Given the description of an element on the screen output the (x, y) to click on. 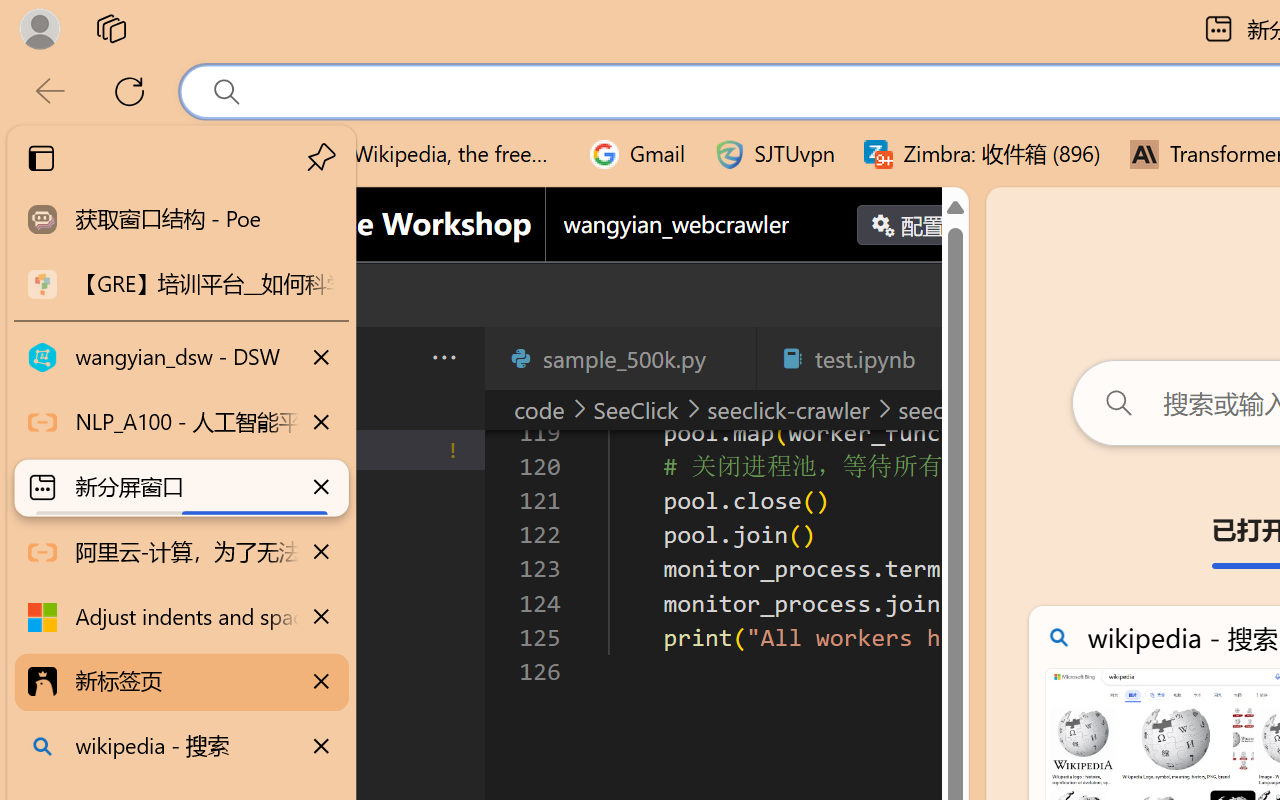
Run and Debug (Ctrl+Shift+D) (135, 692)
Search (Ctrl+Shift+F) (135, 519)
Application Menu (135, 358)
sample_500k.py (619, 358)
